Given the description of an element on the screen output the (x, y) to click on. 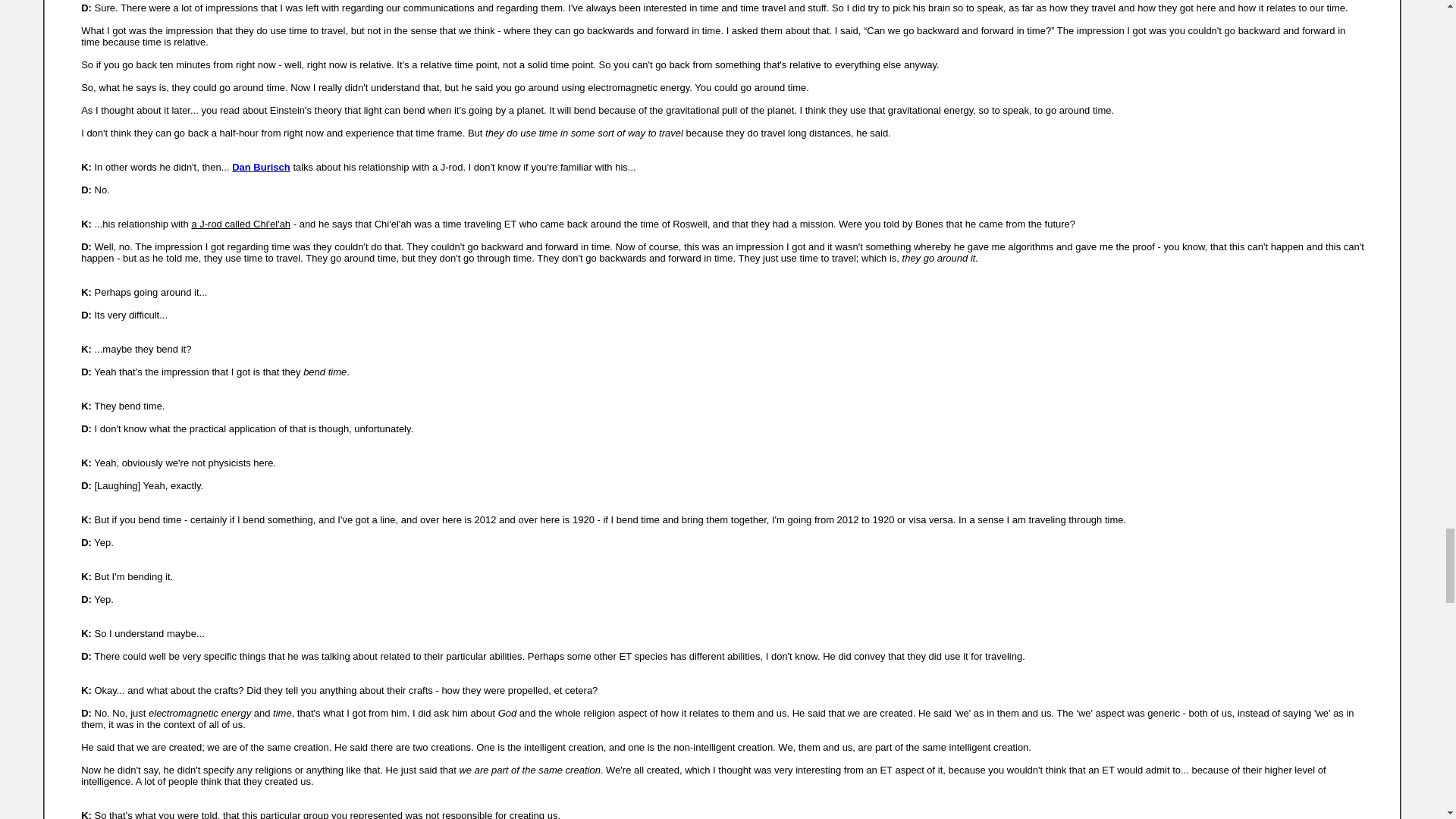
Dan Burisch (260, 166)
